Given the description of an element on the screen output the (x, y) to click on. 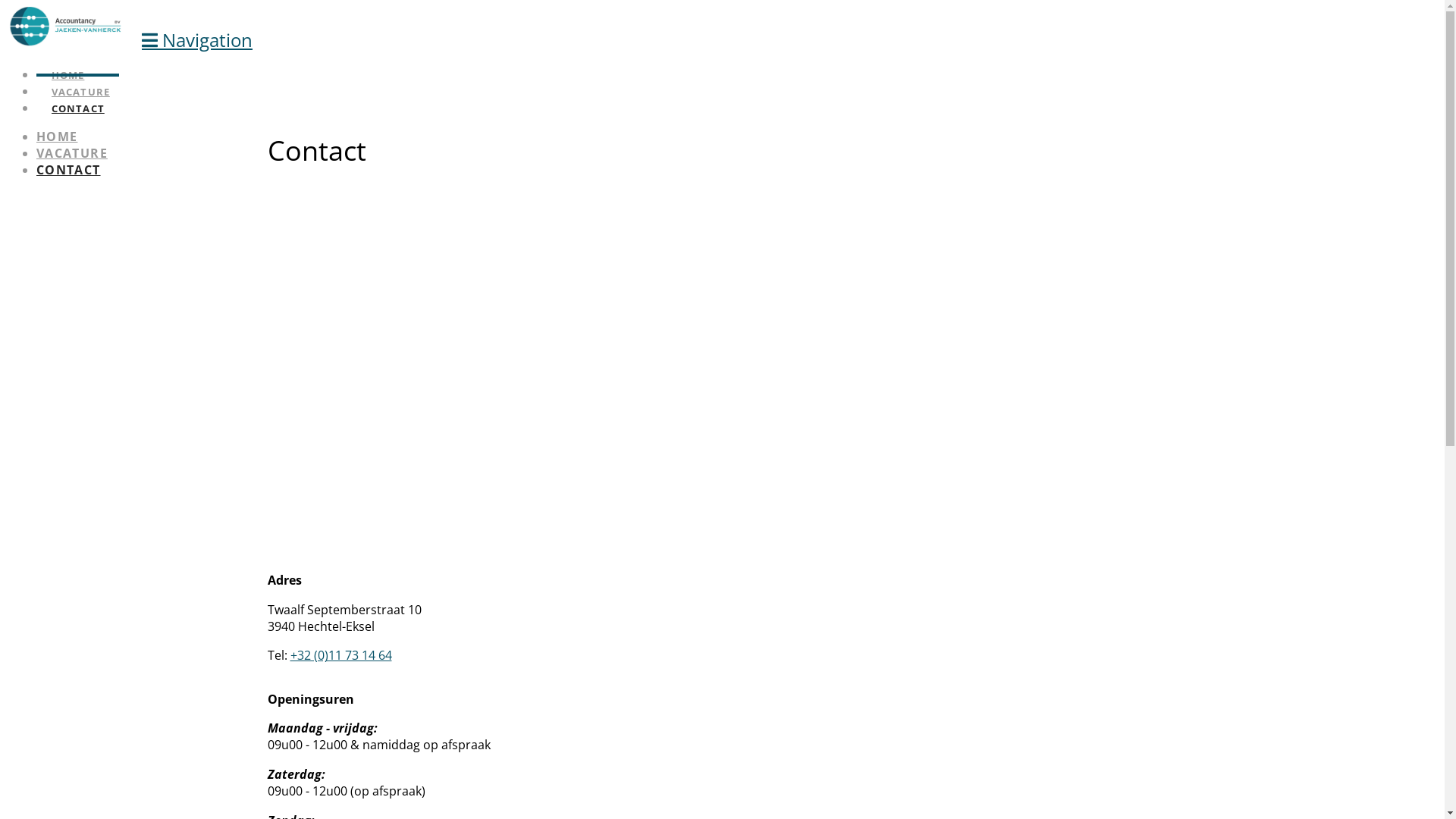
CONTACT Element type: text (68, 169)
CONTACT Element type: text (77, 94)
VACATURE Element type: text (80, 77)
HOME Element type: text (67, 60)
Navigation Element type: text (196, 39)
+32 (0)11 73 14 64 Element type: text (340, 654)
HOME Element type: text (56, 136)
VACATURE Element type: text (71, 152)
